Given the description of an element on the screen output the (x, y) to click on. 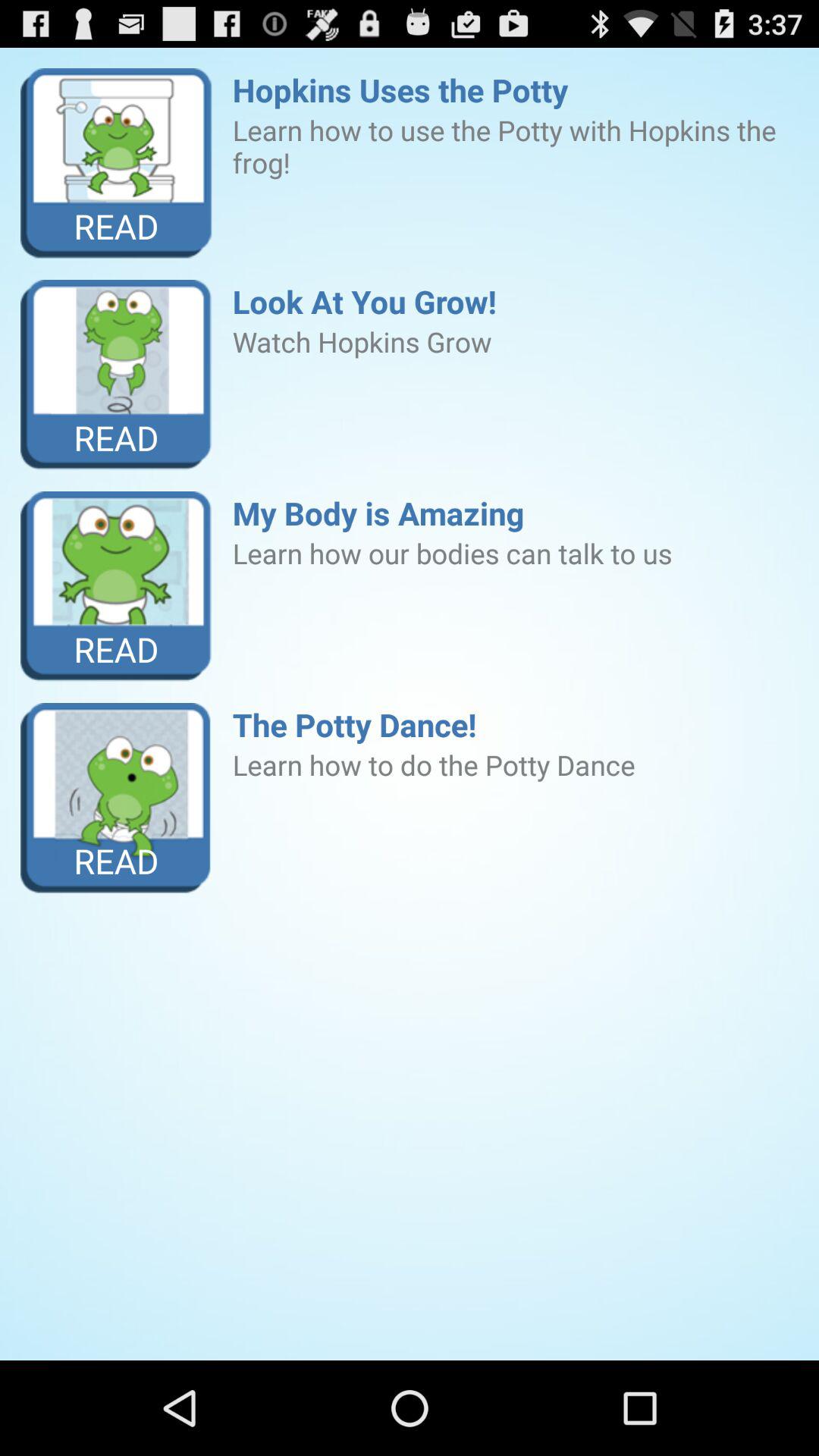
select the icon next to the my body is app (116, 586)
